Given the description of an element on the screen output the (x, y) to click on. 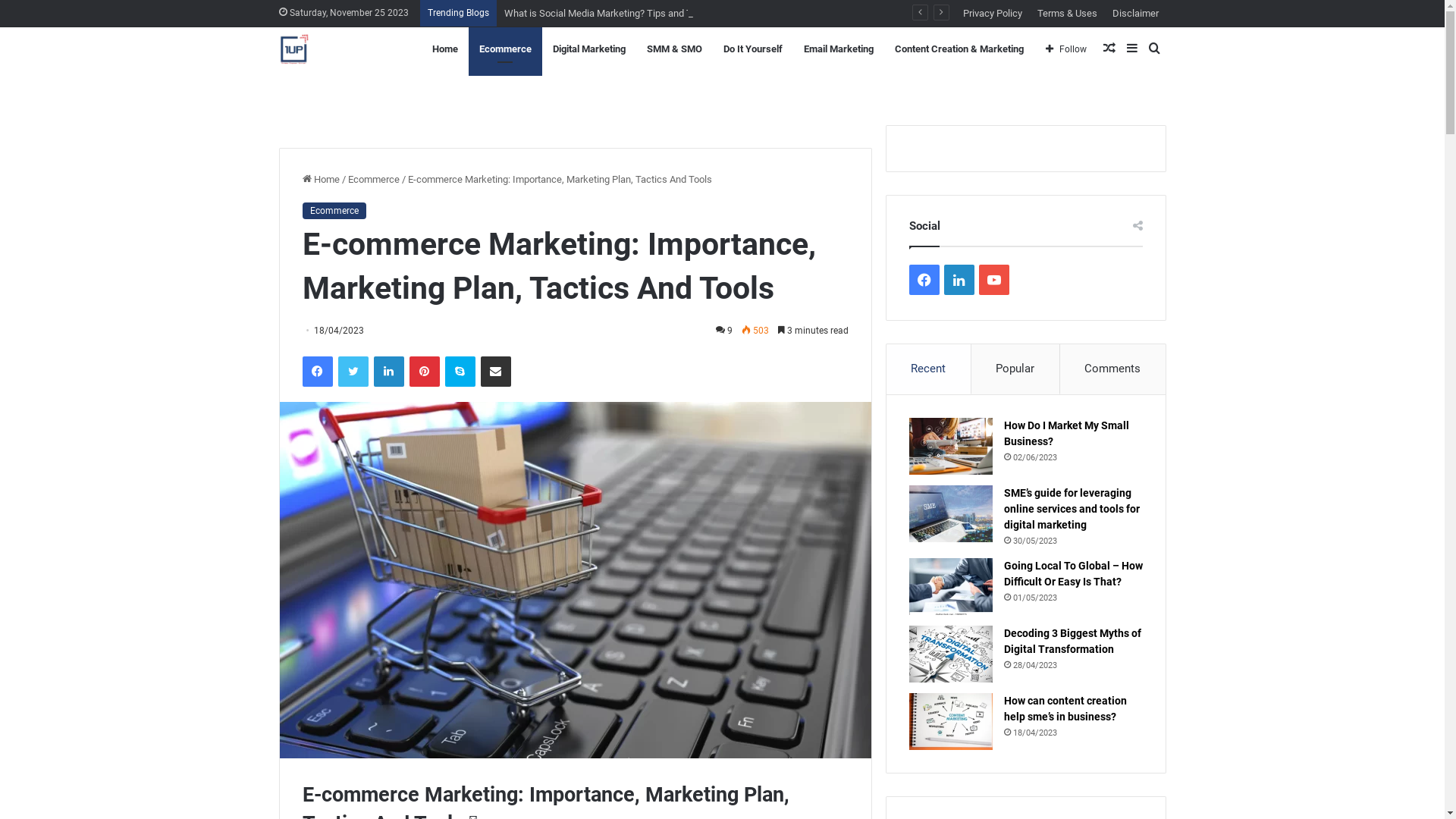
Home Element type: text (319, 179)
Disclaimer Element type: text (1134, 13)
Email Marketing Element type: text (838, 49)
Privacy Policy Element type: text (992, 13)
SMM & SMO Element type: text (673, 49)
LinkedIn Element type: hover (388, 371)
Terms & Uses Element type: text (1066, 13)
Share via Email Element type: hover (495, 371)
Follow Element type: text (1066, 49)
Ecommerce Element type: text (505, 49)
Random Article Element type: hover (1109, 49)
Twitter Element type: hover (353, 371)
Home Element type: text (444, 49)
Content Creation & Marketing Element type: text (959, 49)
Decoding 3 Biggest Myths of Digital Transformation Element type: text (1072, 641)
Pinterest Element type: hover (424, 371)
Skype Element type: hover (459, 371)
Recent Element type: text (928, 369)
Ecommerce Element type: text (372, 179)
Popular Element type: text (1015, 369)
How Do I Market My Small Business? Element type: text (1066, 433)
Comments Element type: text (1112, 369)
Facebook Element type: hover (316, 371)
Do It Yourself Element type: text (752, 49)
Digital Marketing Element type: text (588, 49)
1Up Business Element type: hover (294, 49)
Ecommerce Element type: text (333, 210)
